Given the description of an element on the screen output the (x, y) to click on. 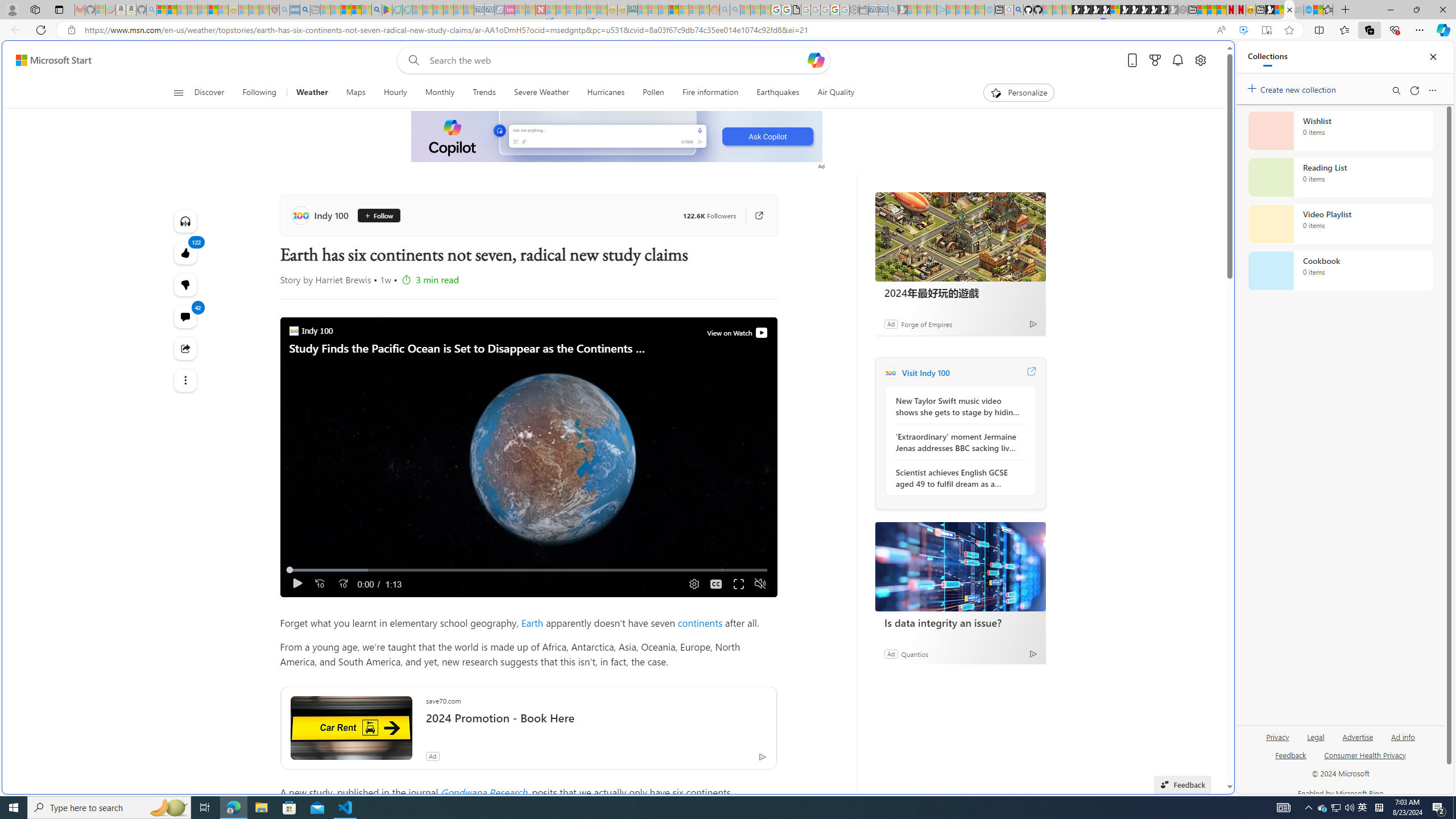
Ad info (1402, 741)
Play Free Online Games | Games from Microsoft Start (1144, 9)
Follow (378, 215)
Legal (1315, 736)
Earth (532, 621)
14 Common Myths Debunked By Scientific Facts - Sleeping (560, 9)
github - Search (1018, 9)
Enter your search term (617, 59)
Ad info (1402, 736)
Play (296, 583)
